Given the description of an element on the screen output the (x, y) to click on. 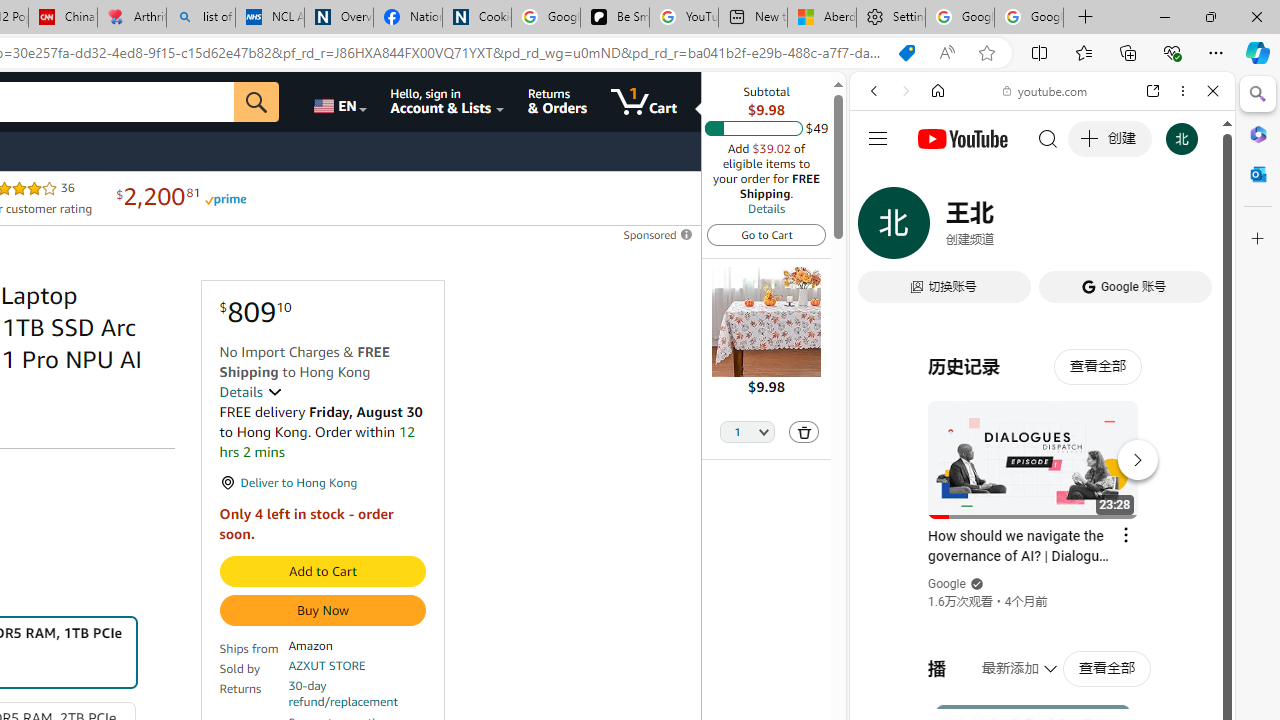
Add to Cart (322, 571)
Search videos from youtube.com (1005, 657)
You have the best price! Shopping in Microsoft Edge (906, 53)
youtube.com (1046, 90)
Show More Music (1164, 546)
Details  (250, 391)
